Given the description of an element on the screen output the (x, y) to click on. 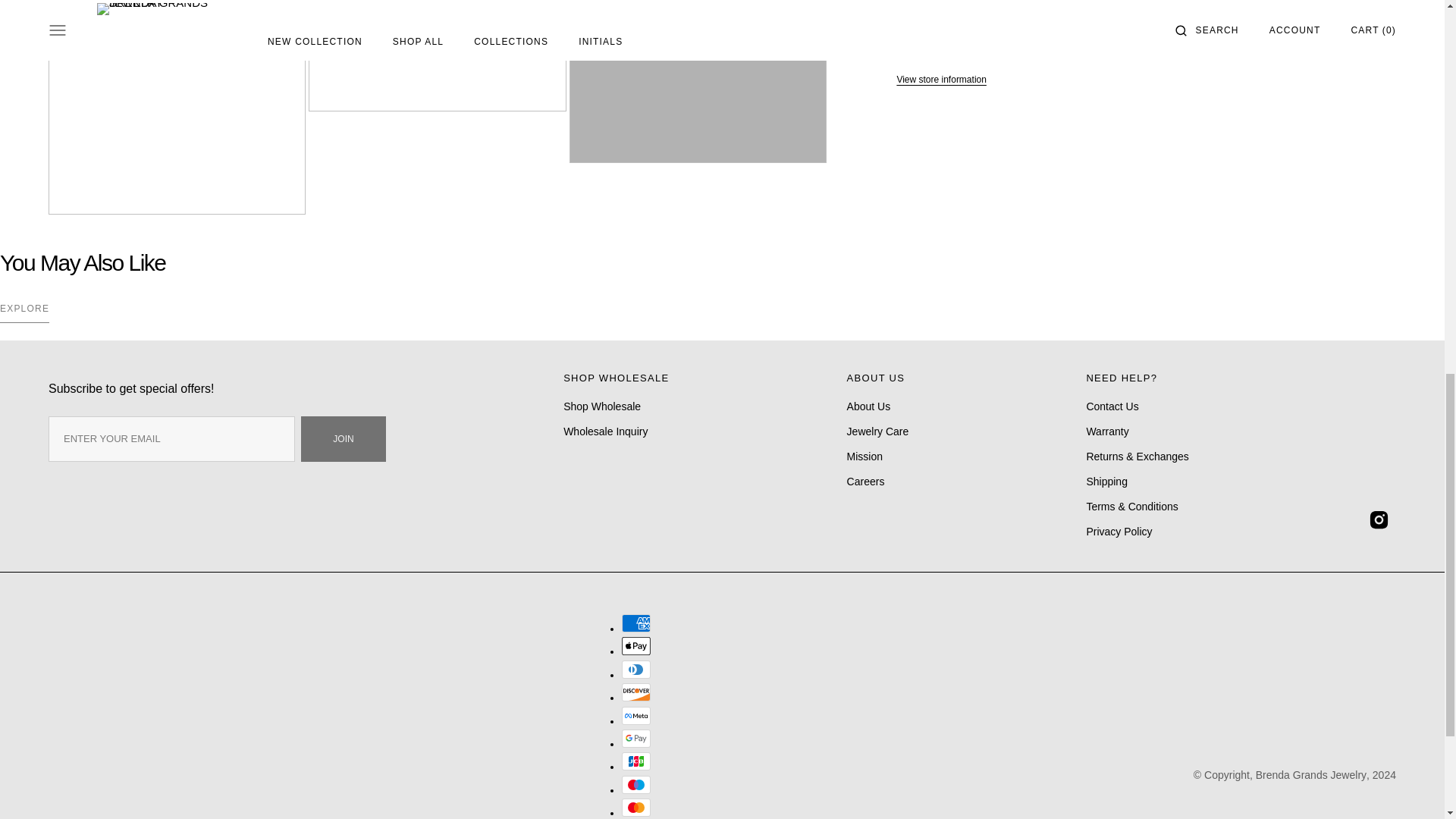
Diners Club (635, 669)
Mastercard (635, 807)
Discover (635, 692)
American Express (635, 623)
Google Pay (635, 738)
Maestro (635, 784)
Meta Pay (635, 715)
Apple Pay (635, 646)
JCB (635, 761)
